Given the description of an element on the screen output the (x, y) to click on. 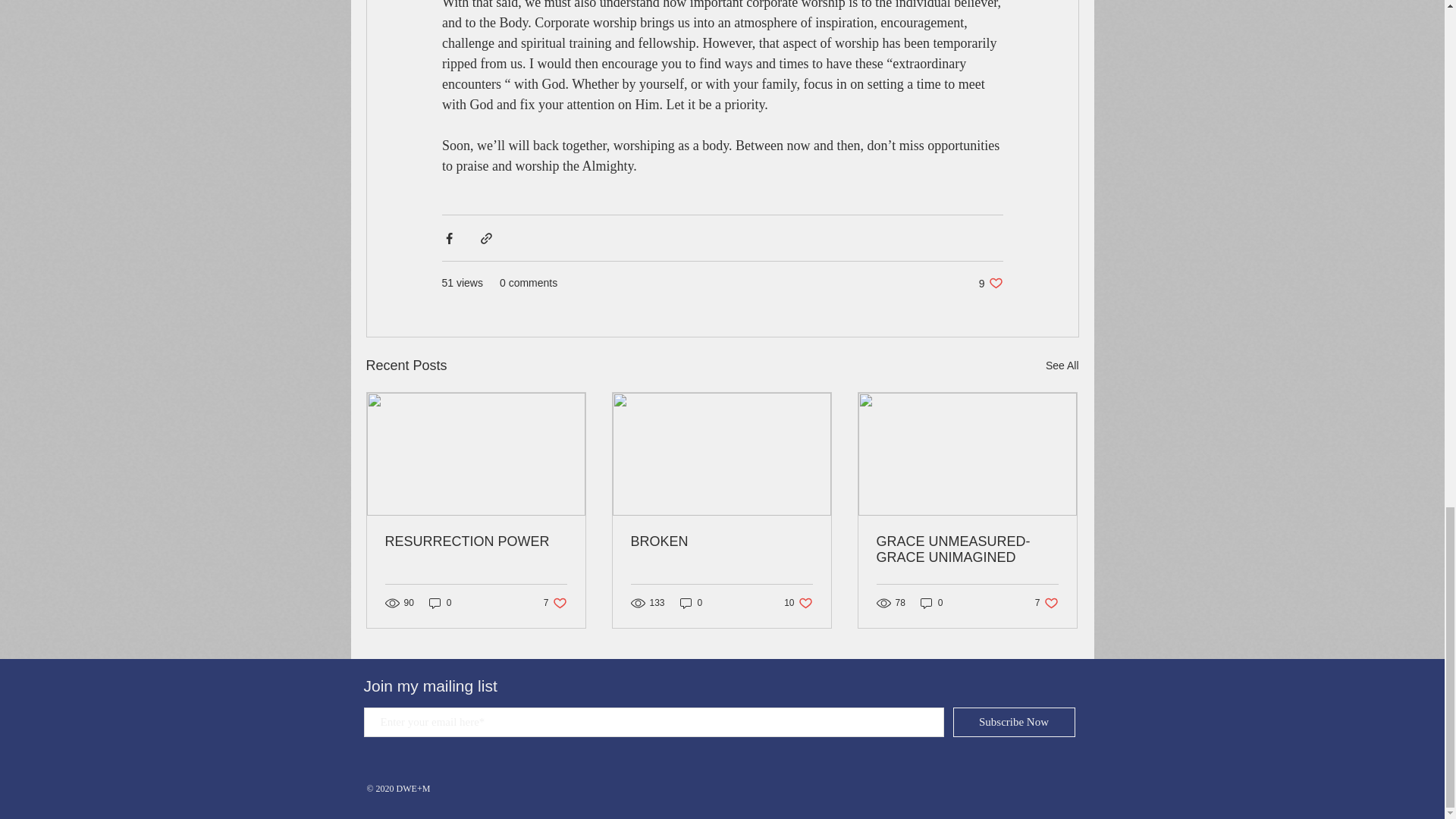
0 (555, 602)
GRACE UNMEASURED-GRACE UNIMAGINED (440, 602)
0 (967, 549)
RESURRECTION POWER (1046, 602)
See All (931, 602)
BROKEN (476, 541)
